Given the description of an element on the screen output the (x, y) to click on. 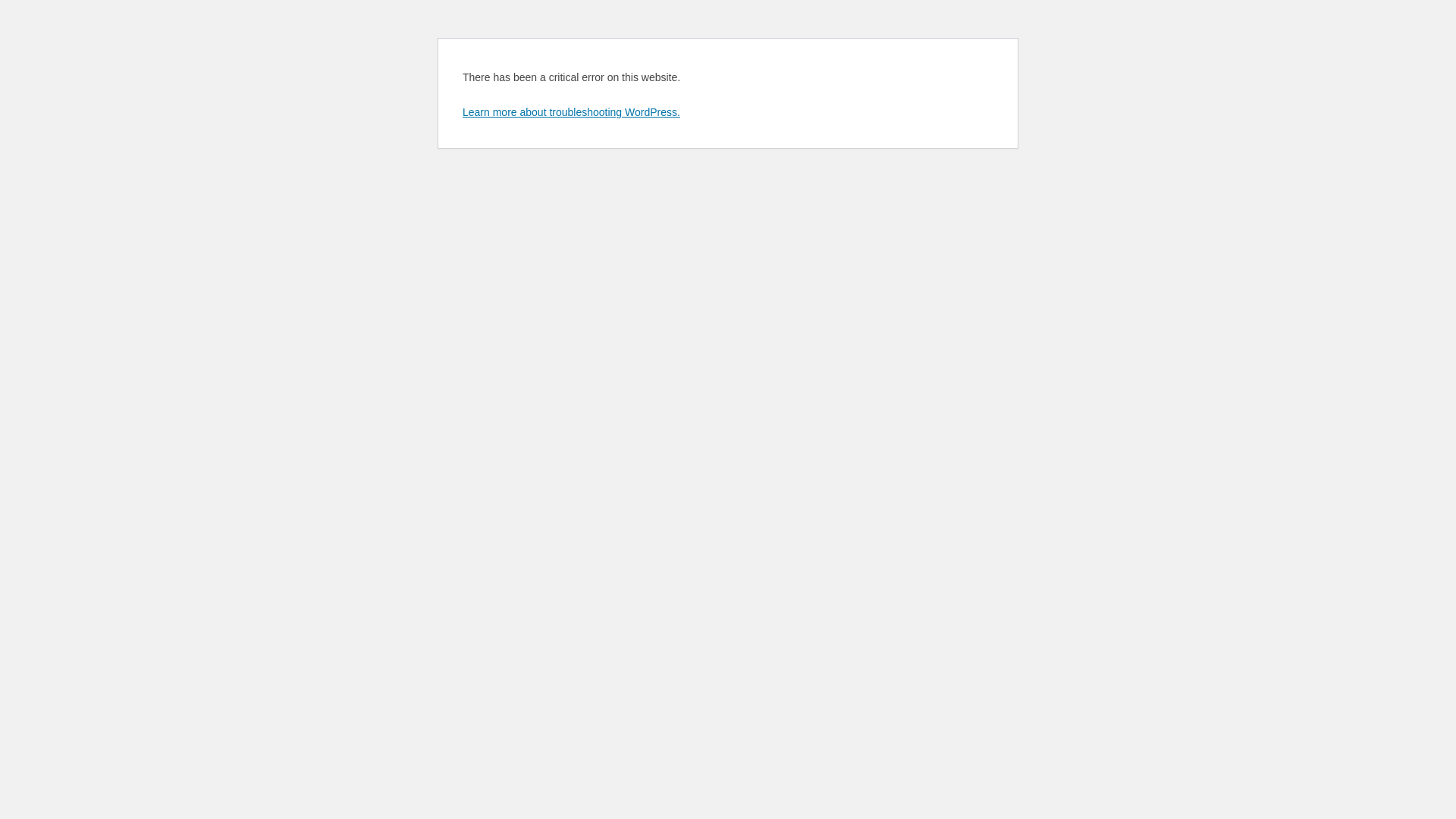
Learn more about troubleshooting WordPress. Element type: text (571, 112)
